Given the description of an element on the screen output the (x, y) to click on. 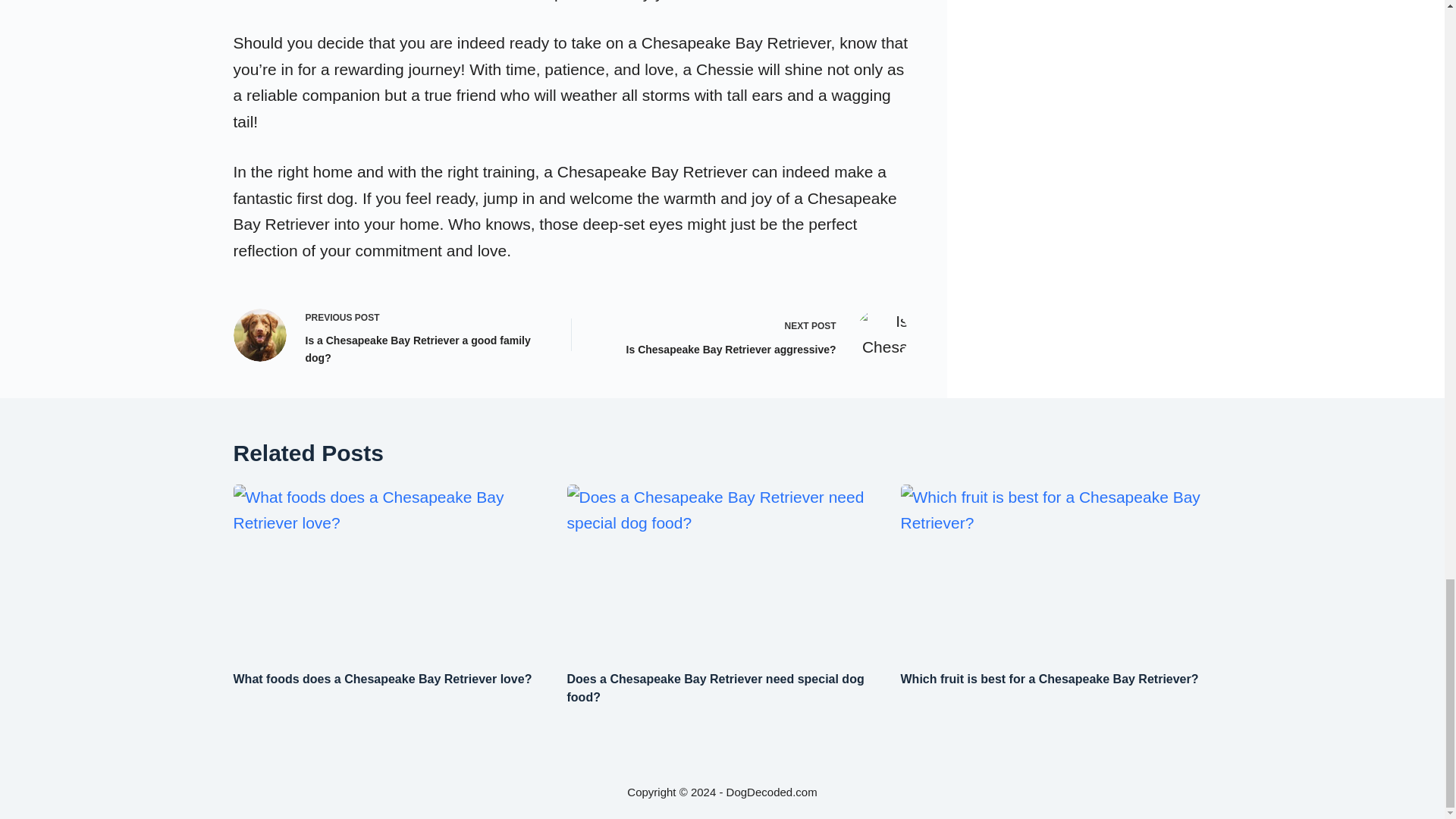
Does a Chesapeake Bay Retriever need special dog food? (715, 687)
Which fruit is best for a Chesapeake Bay Retriever? (751, 334)
What foods does a Chesapeake Bay Retriever love? (1049, 678)
